Given the description of an element on the screen output the (x, y) to click on. 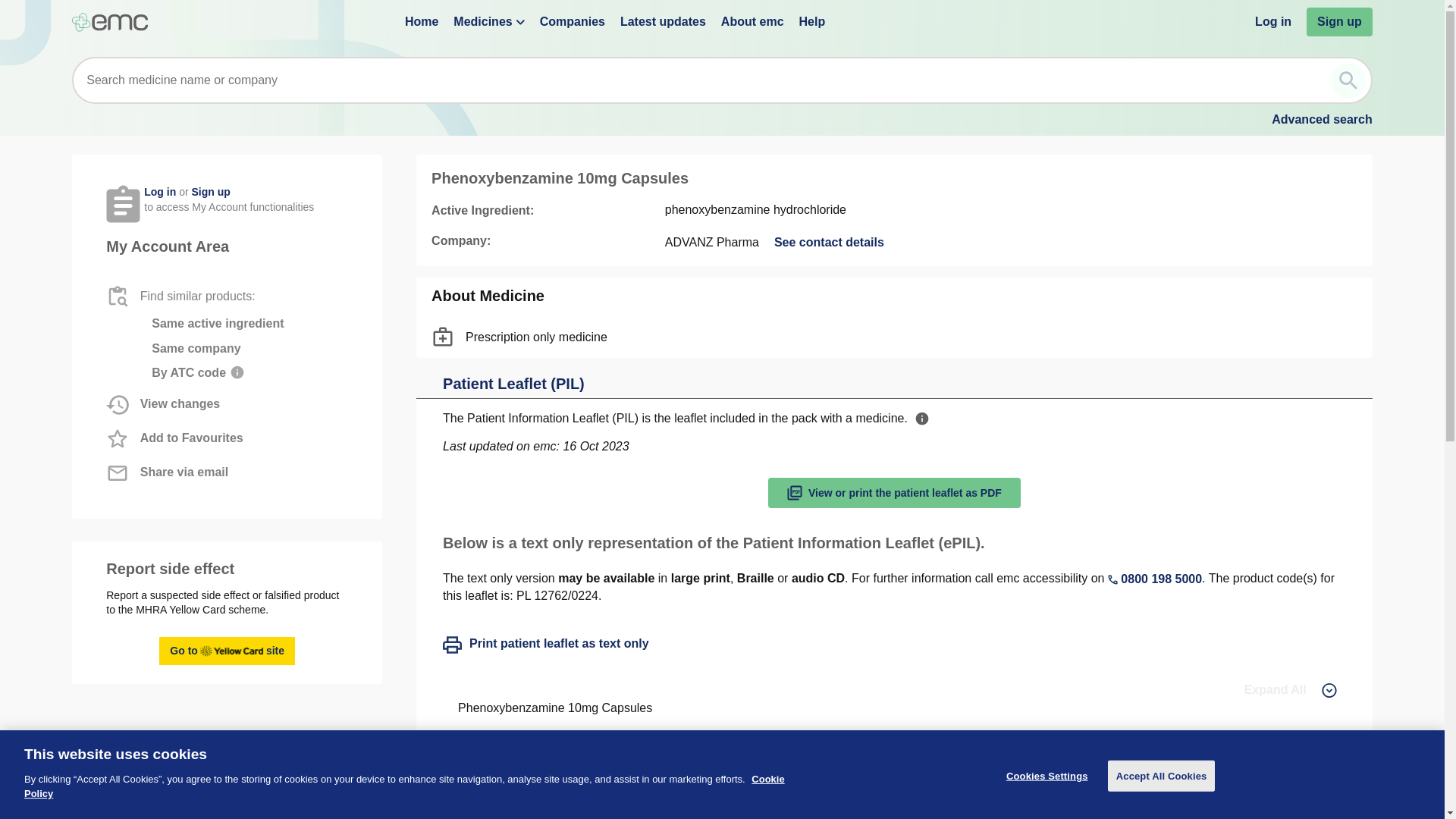
Home (226, 651)
Sign up (421, 21)
View or print the patient leaflet as PDF (1339, 21)
Companies (894, 492)
Sign up (572, 21)
Help (210, 191)
Log in (812, 21)
0800 198 5000 (160, 191)
Log in (1155, 579)
